Given the description of an element on the screen output the (x, y) to click on. 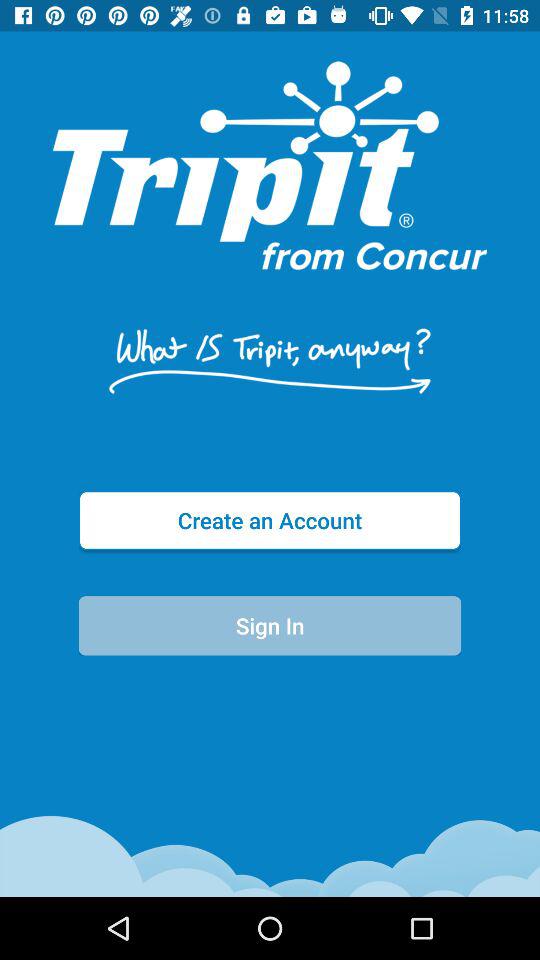
flip until sign in icon (269, 625)
